Given the description of an element on the screen output the (x, y) to click on. 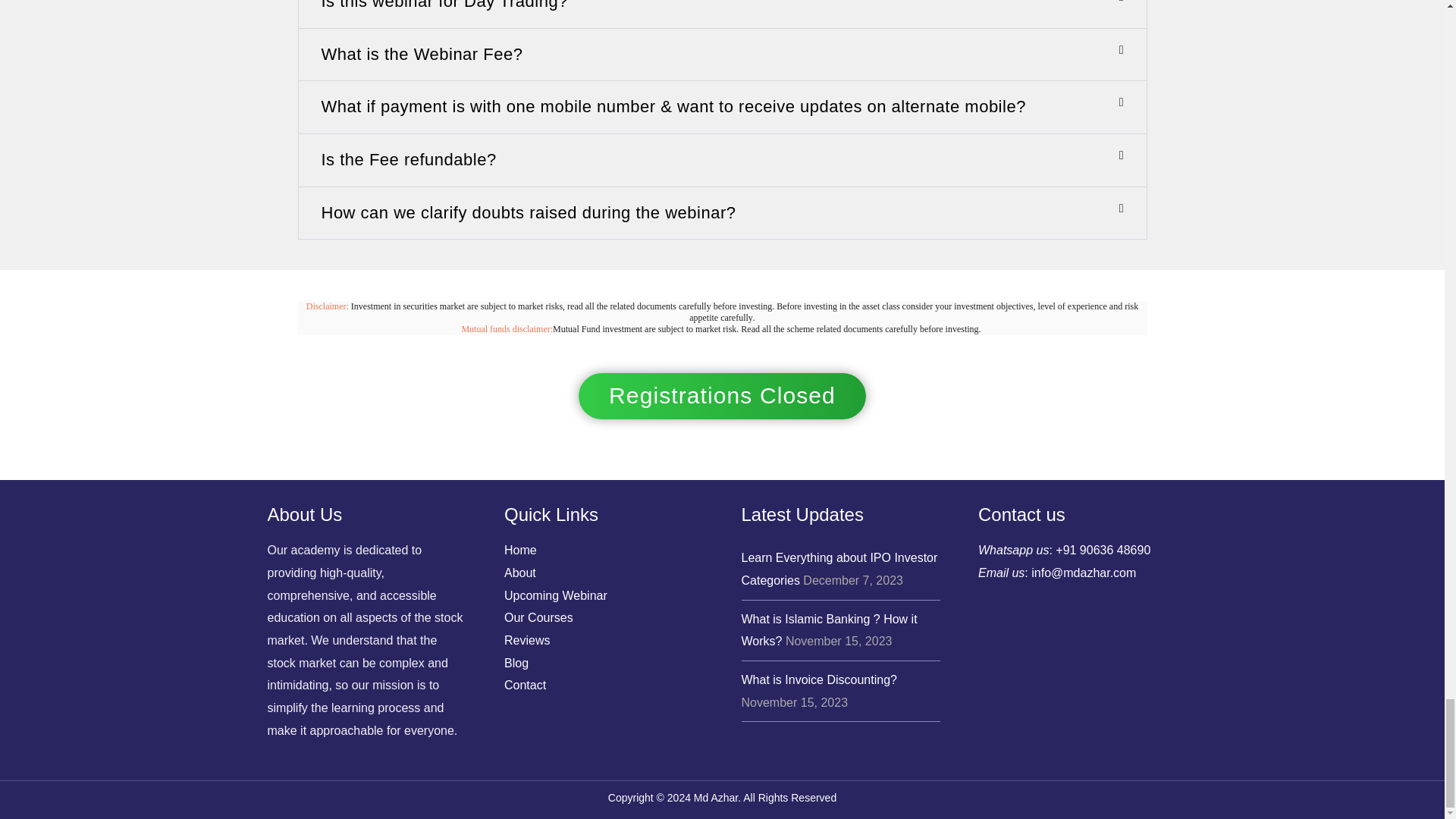
Is the Fee refundable? (408, 158)
Is this webinar for Day Trading? (444, 5)
What is the Webinar Fee? (421, 54)
How can we clarify doubts raised during the webinar? (528, 212)
